Given the description of an element on the screen output the (x, y) to click on. 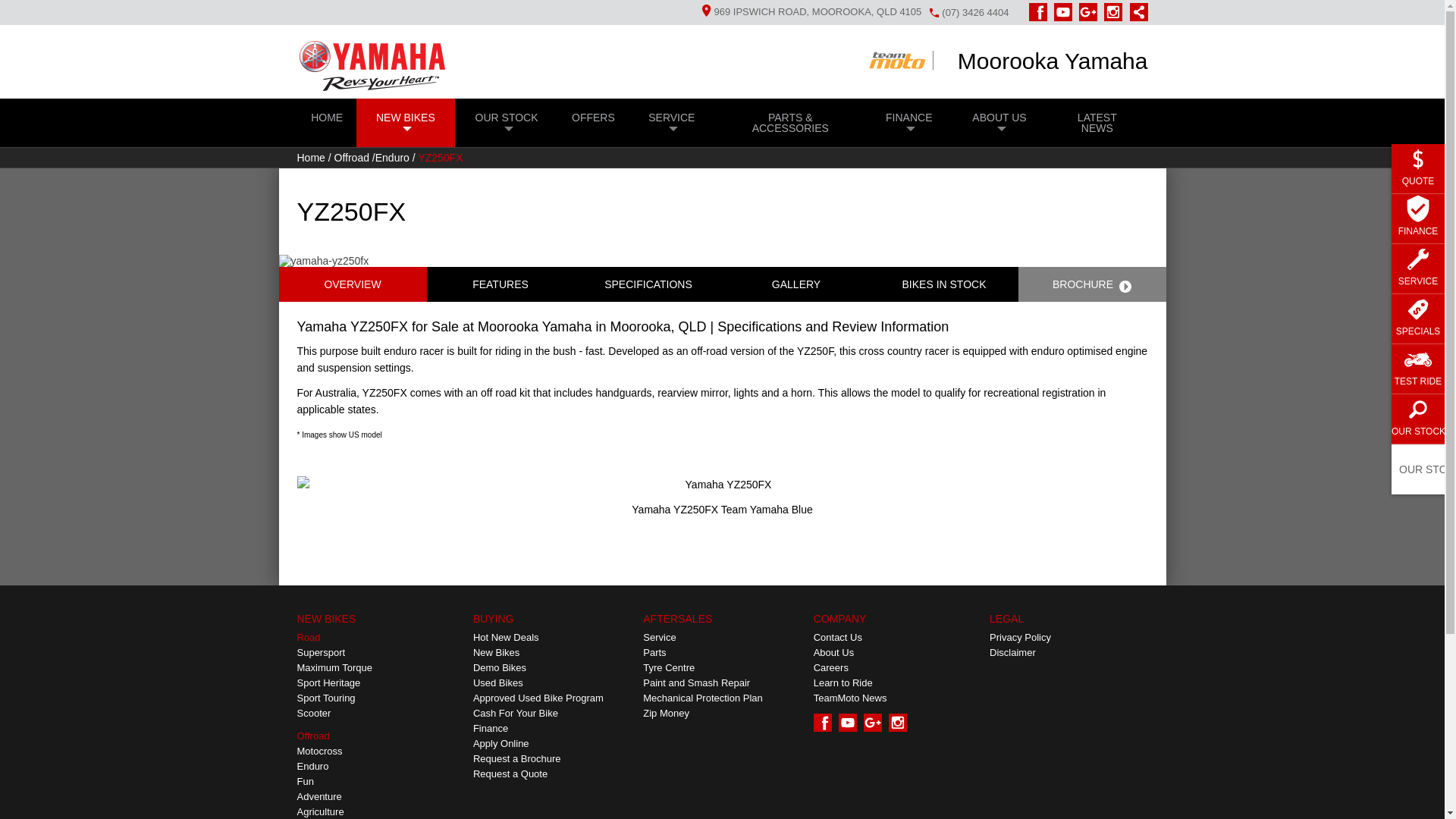
969 IPSWICH ROAD, MOOROOKA, QLD 4105 (807, 11)
Request a Quote (551, 774)
HOME (326, 117)
Used Bikes, Used Yamaha Bikes - Moorooka Yamaha (551, 683)
ROAD (337, 68)
Apply Online - Moorooka Yamaha (551, 743)
Request a Brochure (551, 758)
Share this page (1135, 12)
NEW BIKES (405, 122)
